Given the description of an element on the screen output the (x, y) to click on. 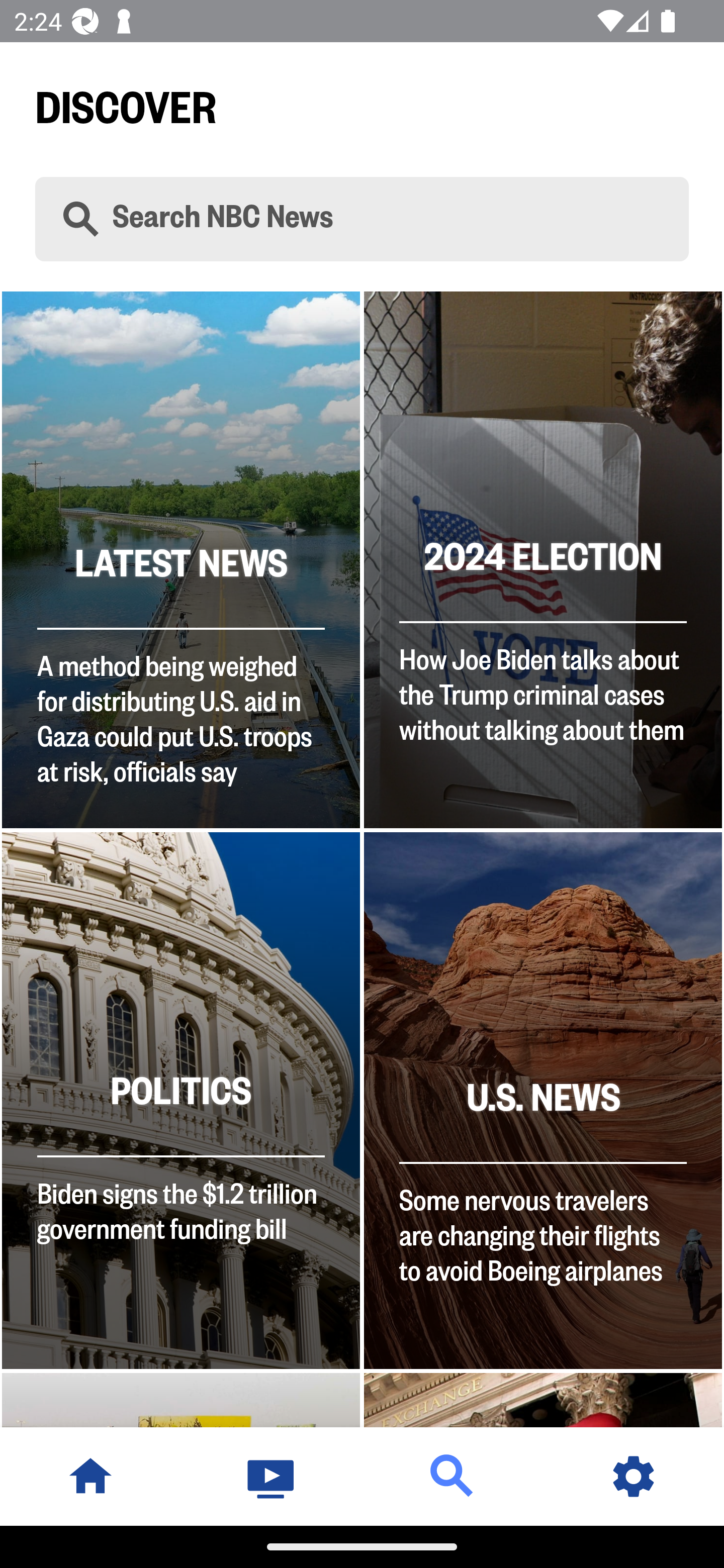
NBC News Home (90, 1475)
Watch (271, 1475)
Settings (633, 1475)
